Given the description of an element on the screen output the (x, y) to click on. 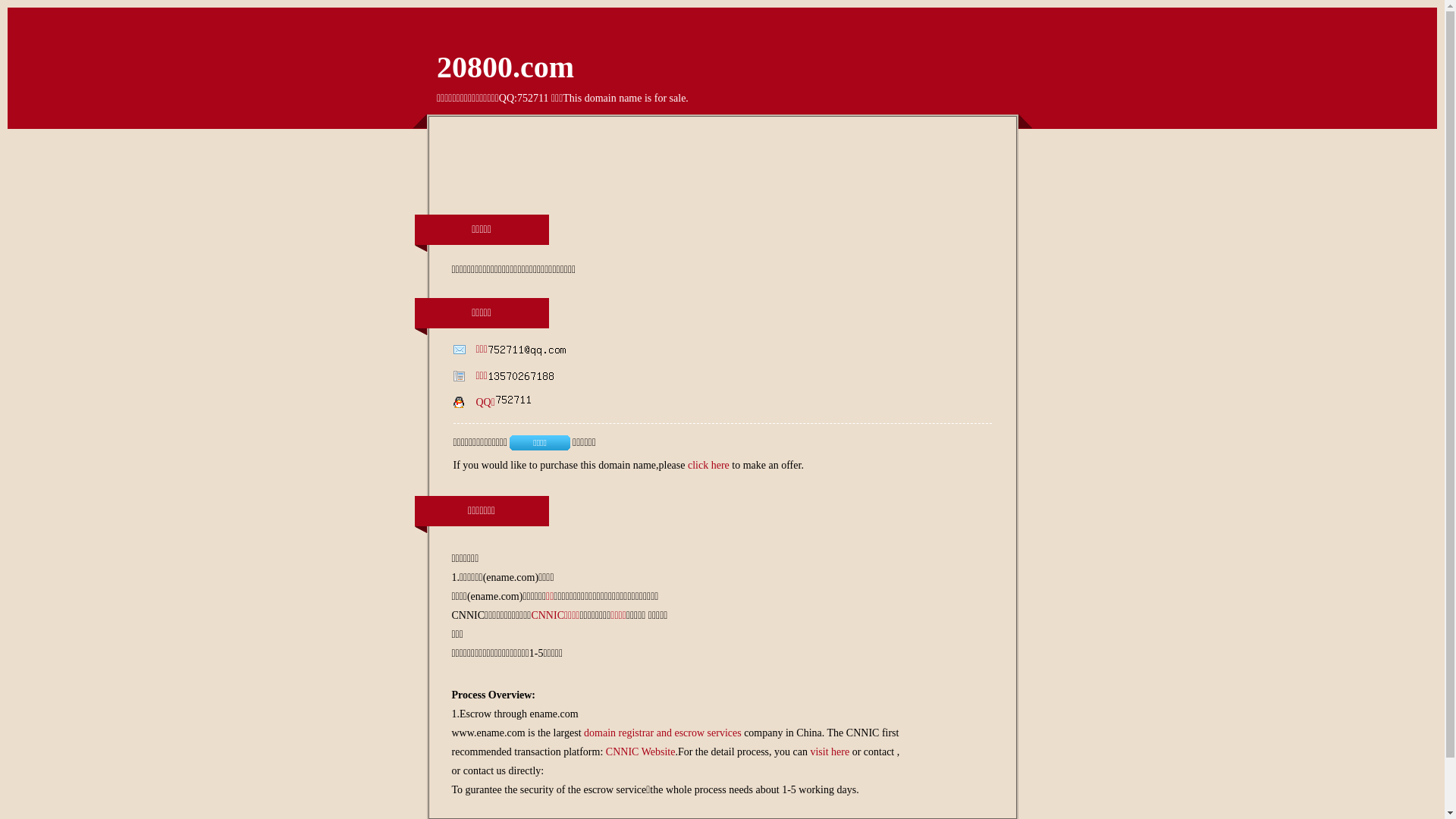
click here Element type: text (708, 464)
visit here Element type: text (829, 751)
